Given the description of an element on the screen output the (x, y) to click on. 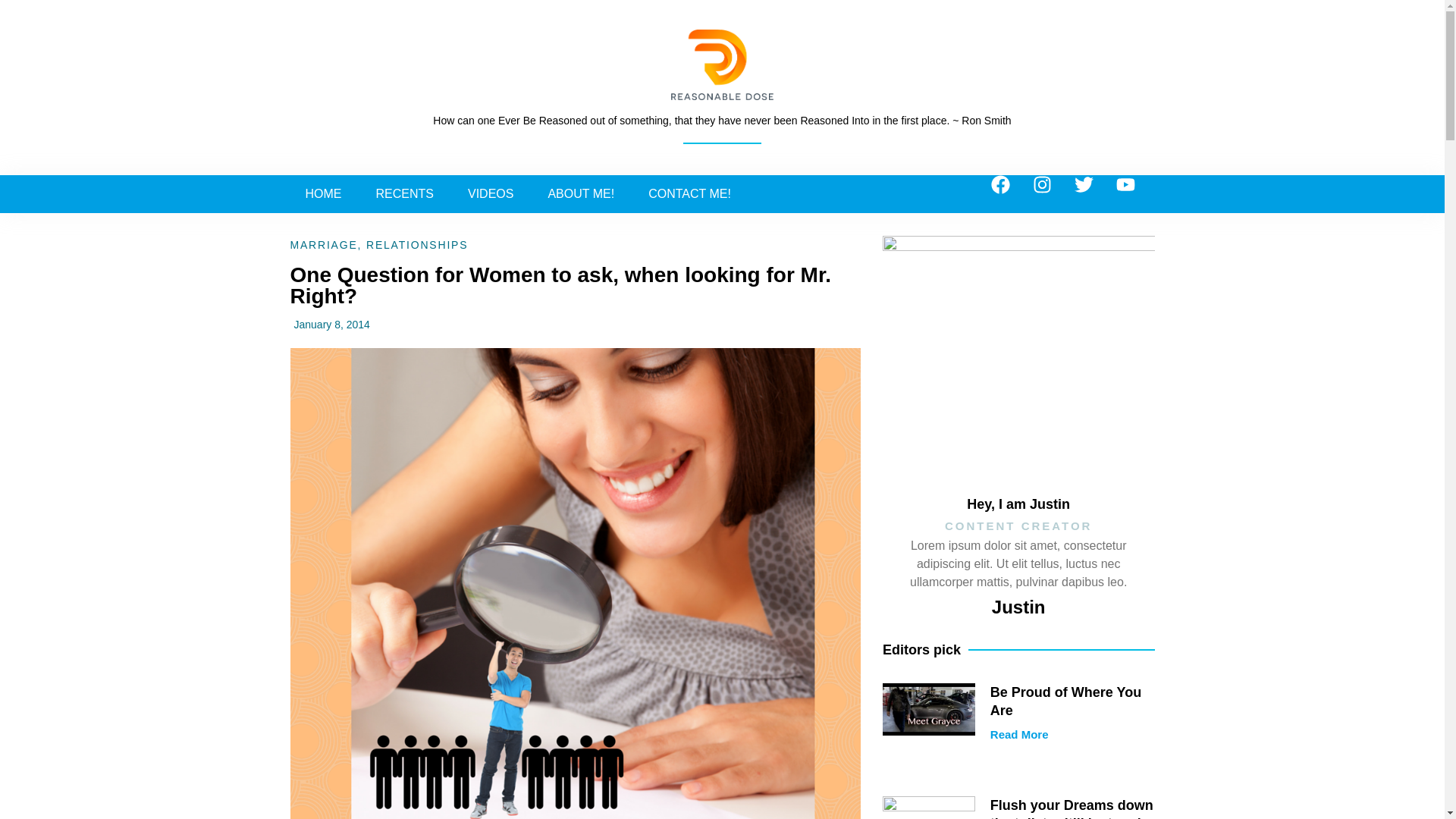
About Blogger Justin McKnight (580, 193)
CONTACT ME! (689, 193)
HOME (322, 193)
January 8, 2014 (329, 324)
RELATIONSHIPS (416, 244)
ABOUT ME! (580, 193)
VIDEOS (490, 193)
MARRIAGE (322, 244)
RECENTS (404, 193)
